Given the description of an element on the screen output the (x, y) to click on. 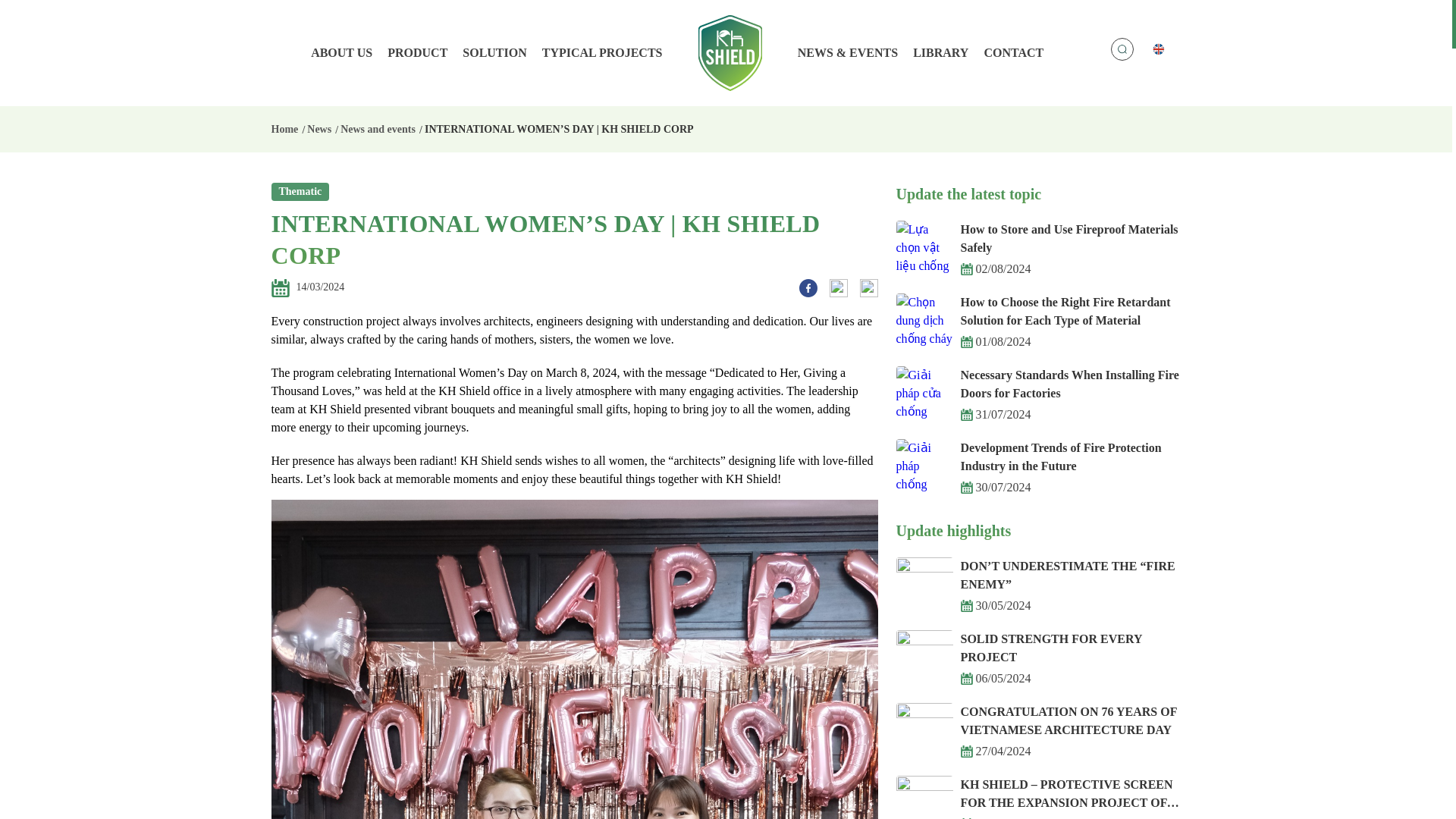
TYPICAL PROJECTS (601, 51)
How to Store and Use Fireproof Materials Safely (1069, 238)
SOLUTION (494, 51)
LIBRARY (940, 51)
News and events (382, 129)
CONTACT (1013, 51)
ABOUT US (341, 51)
PRODUCT (416, 51)
